Given the description of an element on the screen output the (x, y) to click on. 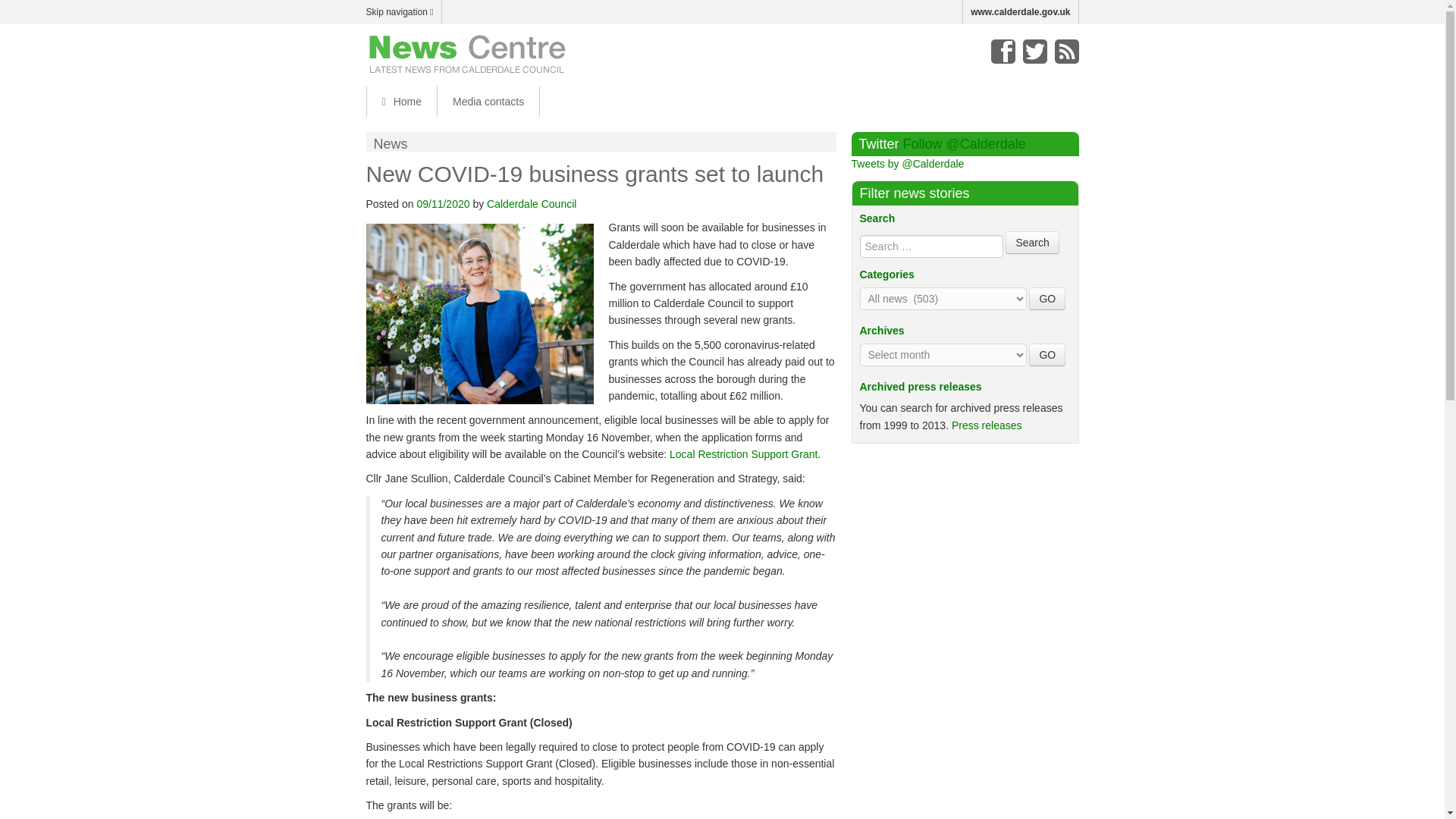
GO (1047, 298)
Home (400, 101)
GO (1047, 298)
Local Restriction Support Grant (742, 453)
Calderdale Council (531, 203)
View all posts by Calderdale Council (531, 203)
5:03 pm (442, 203)
GO (1047, 354)
Twitter (1034, 51)
Facebook (1002, 51)
Search (1032, 241)
www.calderdale.gov.uk (1020, 12)
RSS (1066, 51)
Media contacts (489, 101)
Search (1032, 241)
